Given the description of an element on the screen output the (x, y) to click on. 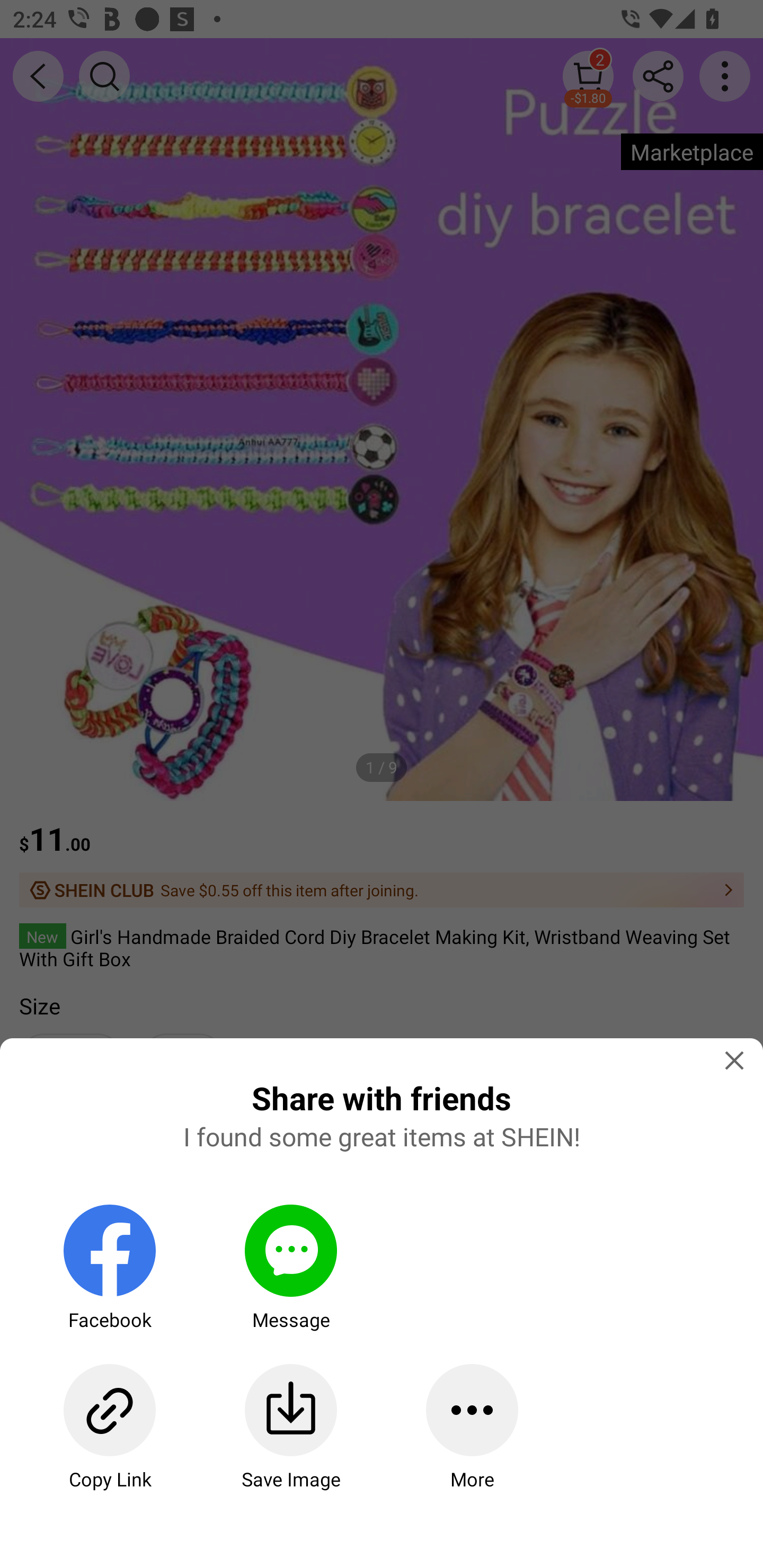
Facebook (109, 1268)
Message (290, 1268)
Copy Link (109, 1427)
Save Image (290, 1427)
More (472, 1427)
